Given the description of an element on the screen output the (x, y) to click on. 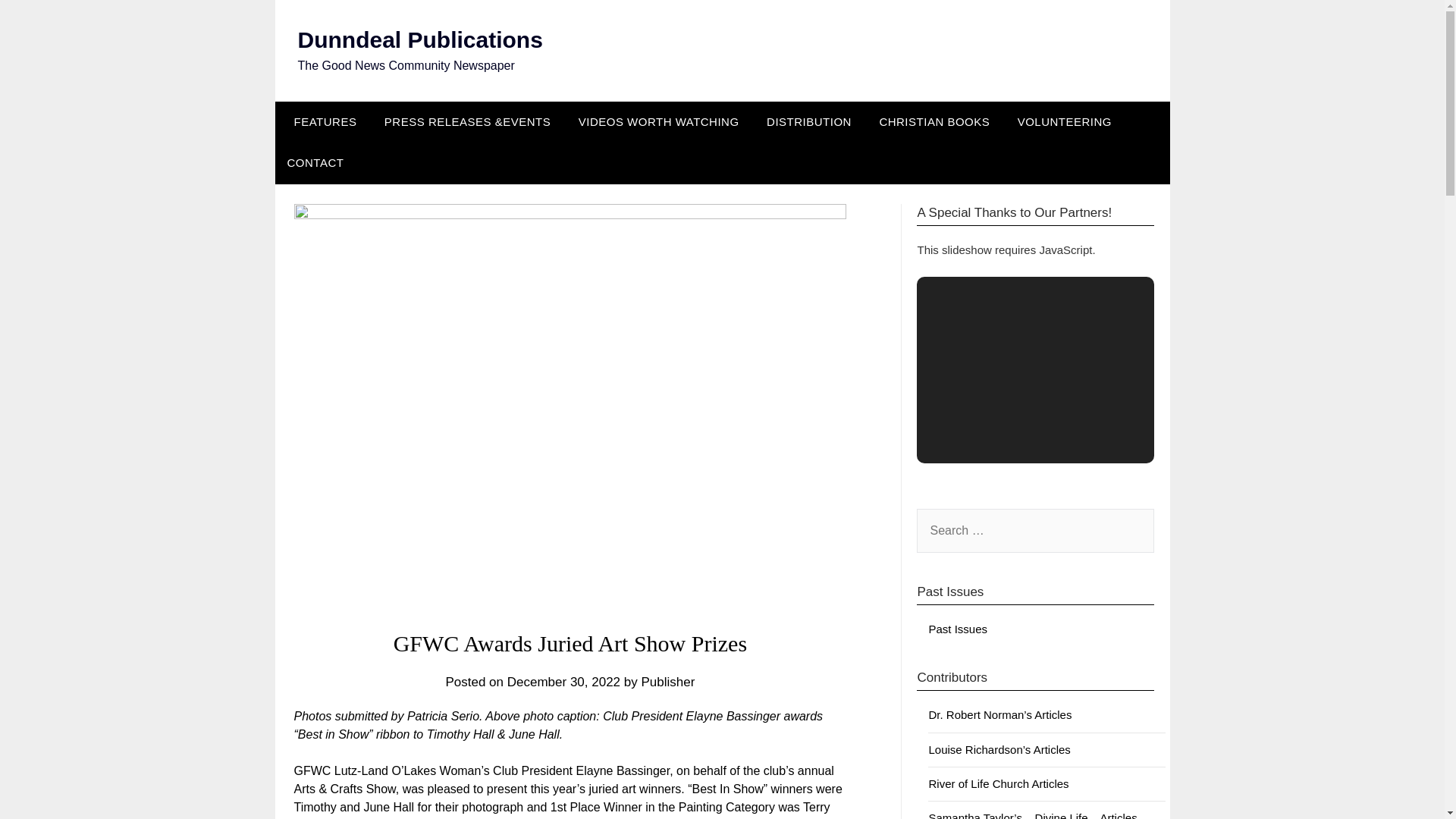
Search (38, 22)
CHRISTIAN BOOKS (933, 121)
CONTACT (315, 162)
Past Issues (957, 628)
River of Life Church Articles (998, 783)
DISTRIBUTION (808, 121)
FEATURES (321, 121)
Publisher (667, 681)
VOLUNTEERING (1065, 121)
Dunndeal Publications (419, 39)
December 30, 2022 (563, 681)
VIDEOS WORTH WATCHING (658, 121)
